Given the description of an element on the screen output the (x, y) to click on. 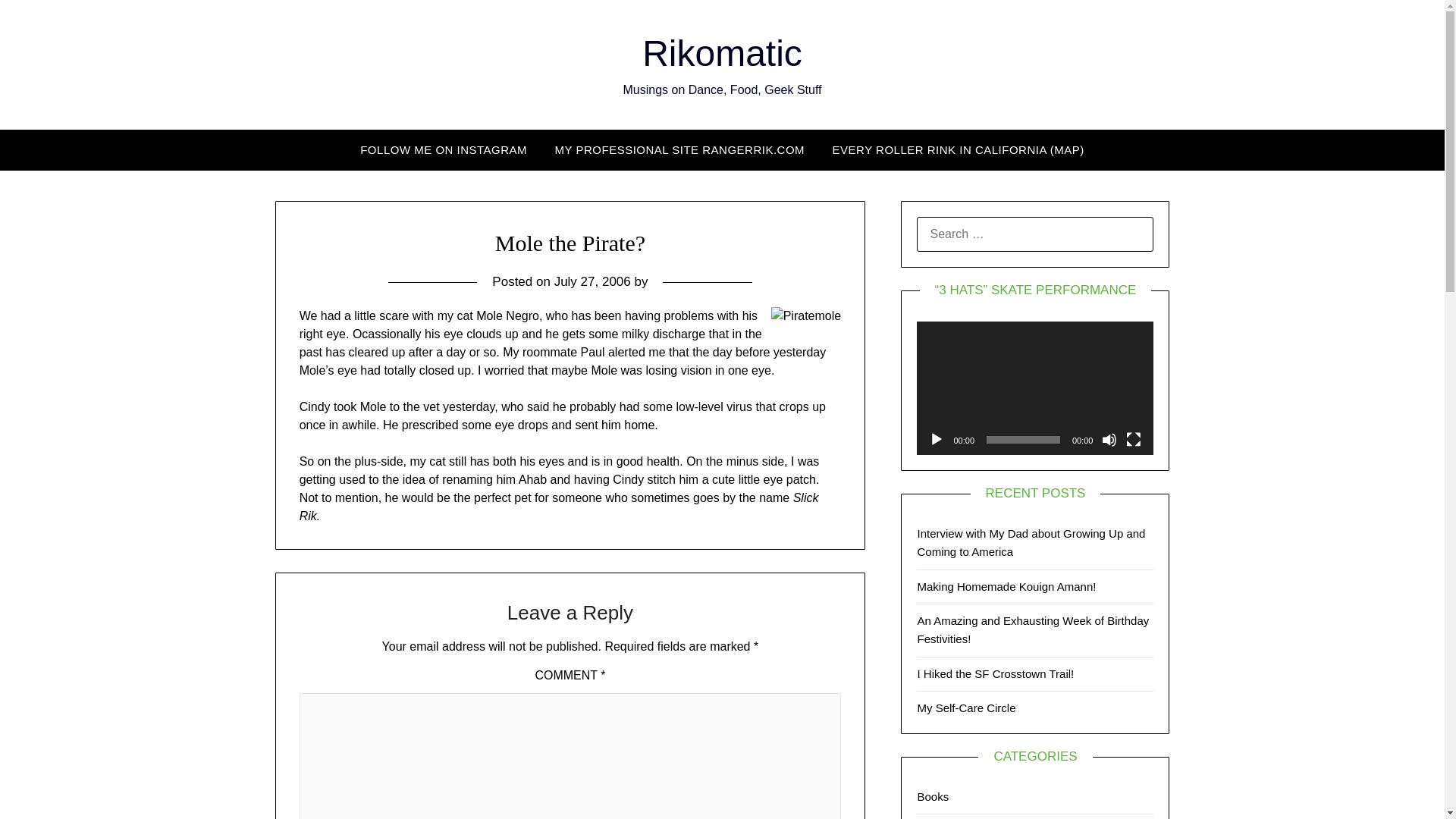
MY PROFESSIONAL SITE RANGERRIK.COM (679, 149)
Rikomatic (722, 53)
An Amazing and Exhausting Week of Birthday Festivities! (1032, 629)
Mute (1109, 439)
FOLLOW ME ON INSTAGRAM (442, 149)
I Hiked the SF Crosstown Trail! (995, 673)
Search (38, 22)
My Self-Care Circle (965, 707)
Interview with My Dad about Growing Up and Coming to America (1030, 542)
Piratemole (806, 316)
July 27, 2006 (592, 281)
Books (933, 796)
Play (935, 439)
Making Homemade Kouign Amann! (1006, 585)
Fullscreen (1133, 439)
